Given the description of an element on the screen output the (x, y) to click on. 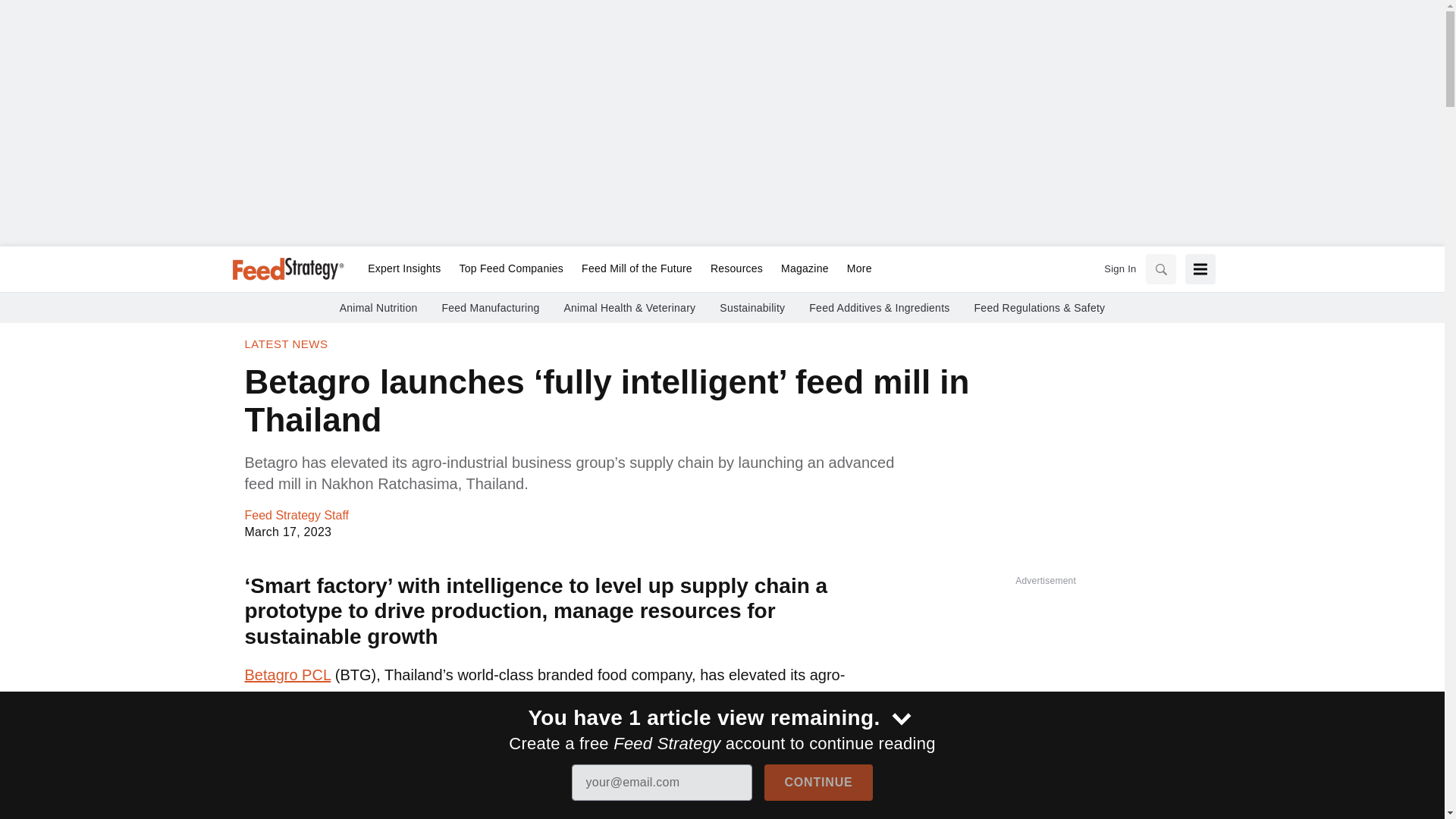
Magazine (804, 269)
3rd party ad content (1044, 708)
More (855, 269)
Feed Manufacturing (489, 307)
Sustainability (751, 307)
Feed Mill of the Future (636, 269)
Animal Nutrition (378, 307)
Top Feed Companies (511, 269)
Latest News (285, 343)
Resources (736, 269)
